Given the description of an element on the screen output the (x, y) to click on. 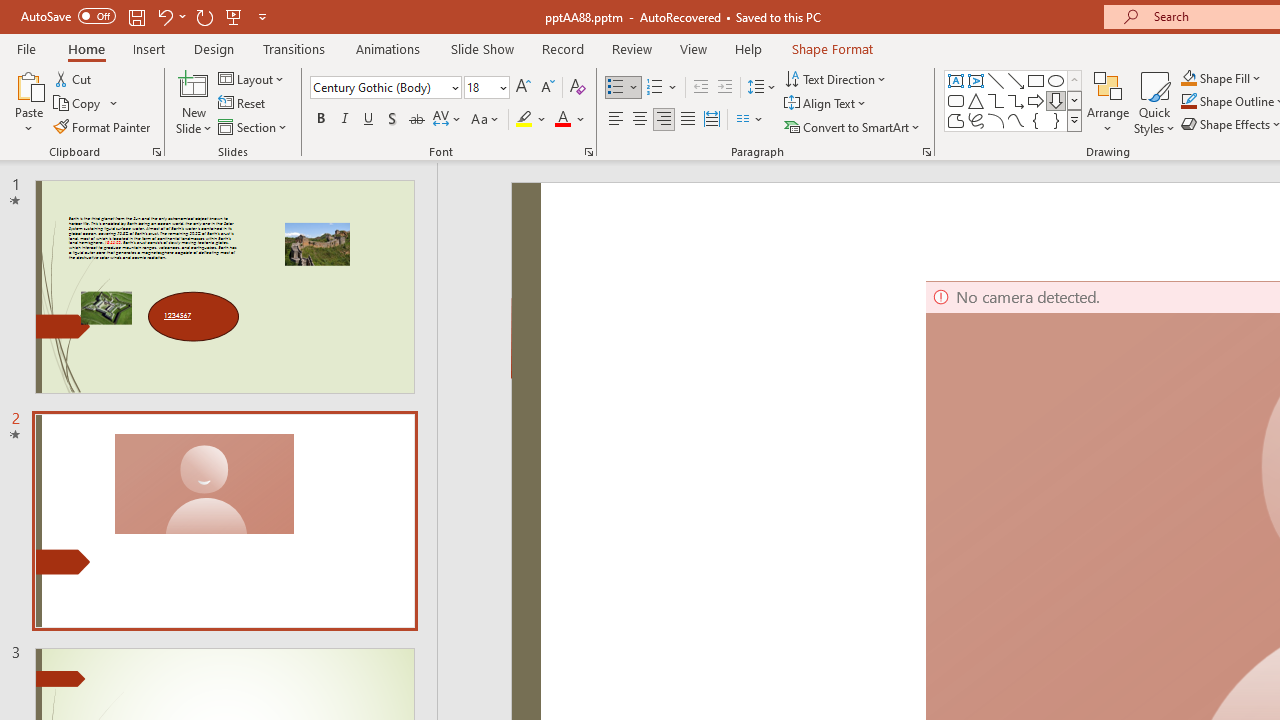
Shape Outline Teal, Accent 1 (1188, 101)
